Given the description of an element on the screen output the (x, y) to click on. 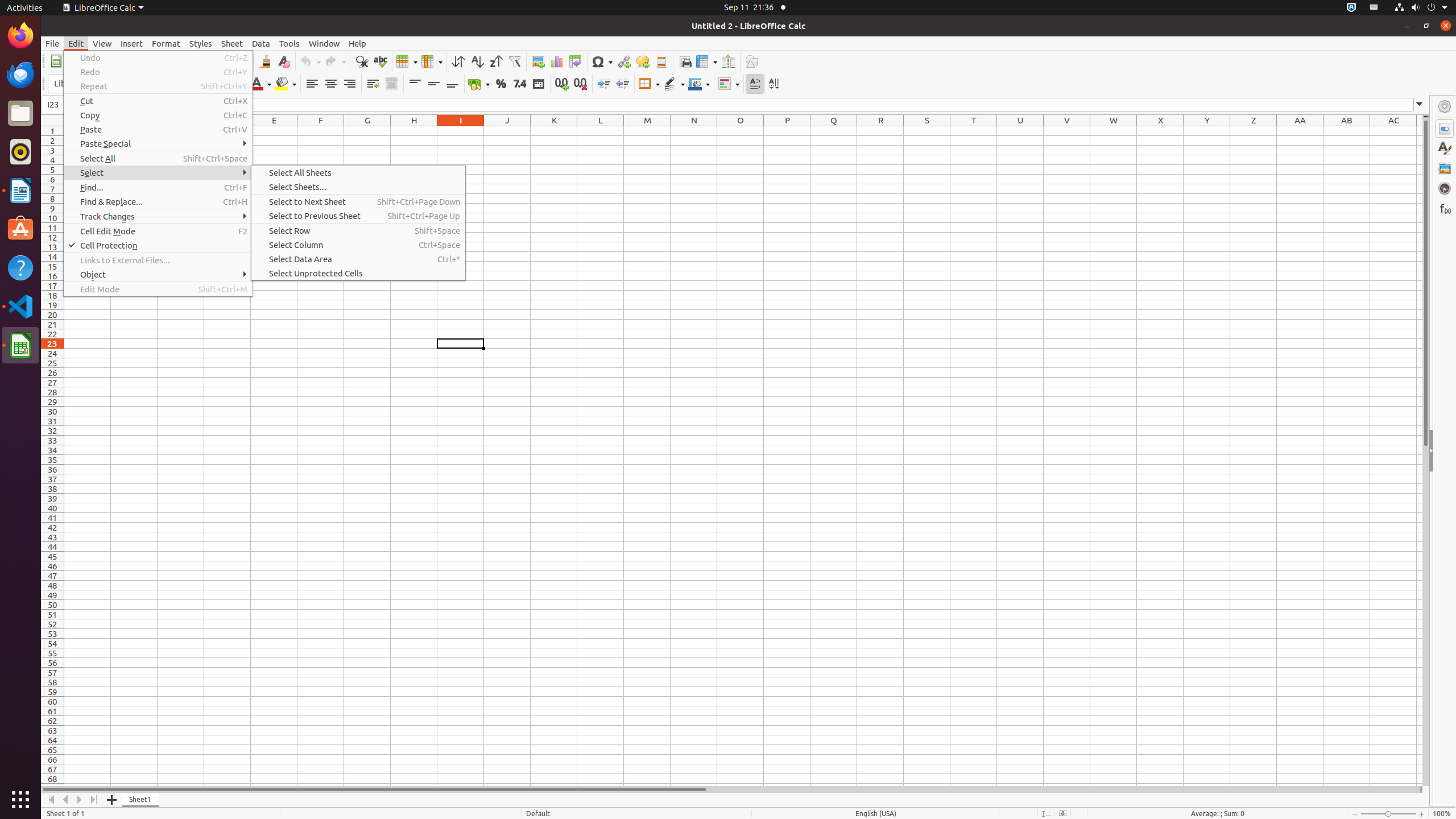
M1 Element type: table-cell (646, 130)
Clone Element type: push-button (264, 61)
Spelling Element type: push-button (379, 61)
AA1 Element type: table-cell (1299, 130)
